Given the description of an element on the screen output the (x, y) to click on. 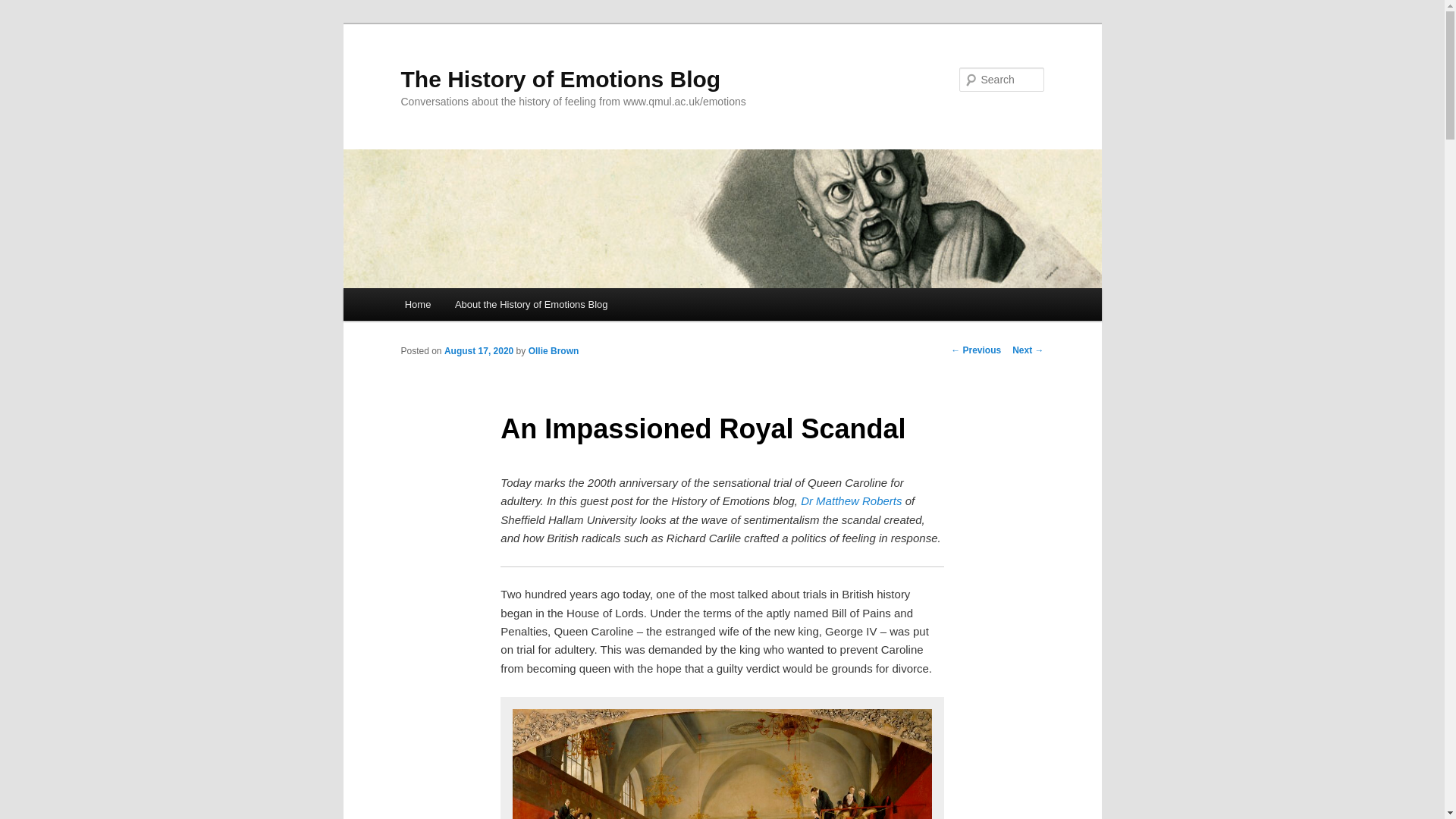
The History of Emotions Blog (560, 78)
9:00 am (478, 350)
Ollie Brown (553, 350)
Search (24, 8)
August 17, 2020 (478, 350)
Posts by Ollie Brown (553, 350)
Dr Matthew Roberts  (852, 500)
Home (417, 304)
About the History of Emotions Blog (531, 304)
